Given the description of an element on the screen output the (x, y) to click on. 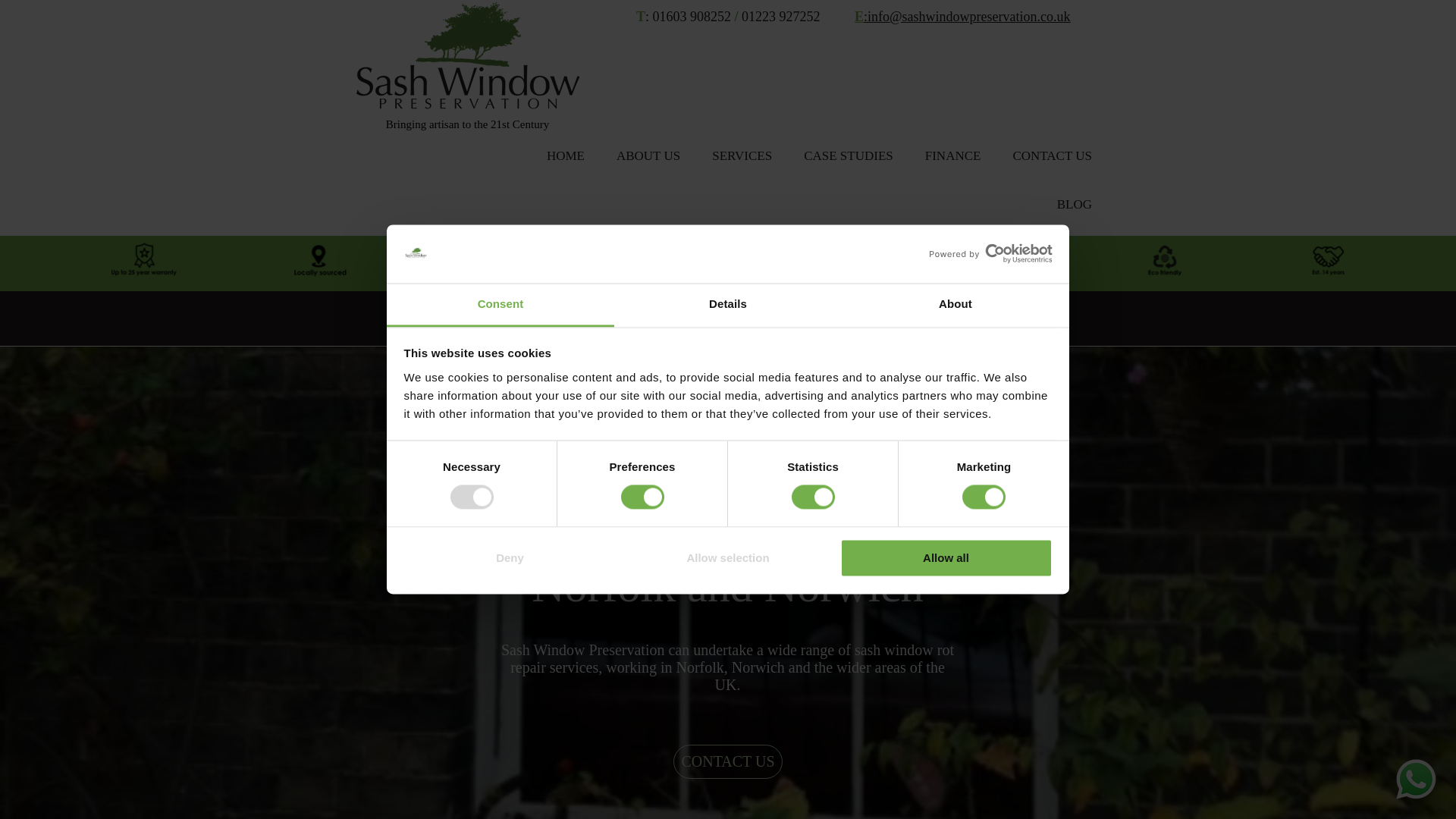
Embedded Content (977, 73)
About (954, 304)
Details (727, 304)
Consent (500, 304)
